Given the description of an element on the screen output the (x, y) to click on. 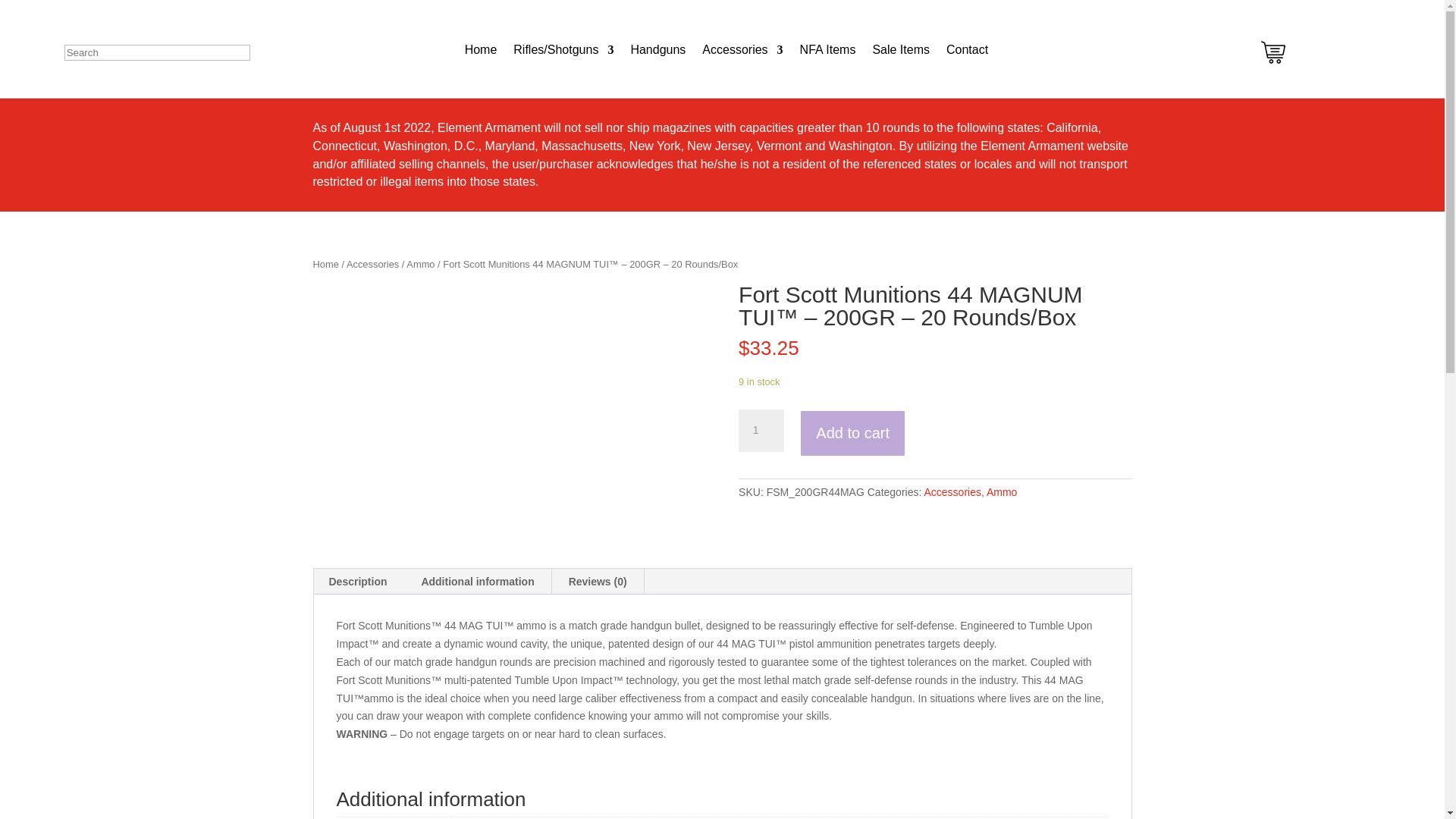
Accessories (372, 264)
Accessories (951, 491)
1 (761, 430)
Add to cart (852, 433)
Ammo (1001, 491)
Description (358, 581)
Home (325, 264)
Additional information (477, 581)
Accessories (742, 49)
Sale Items (901, 49)
